Given the description of an element on the screen output the (x, y) to click on. 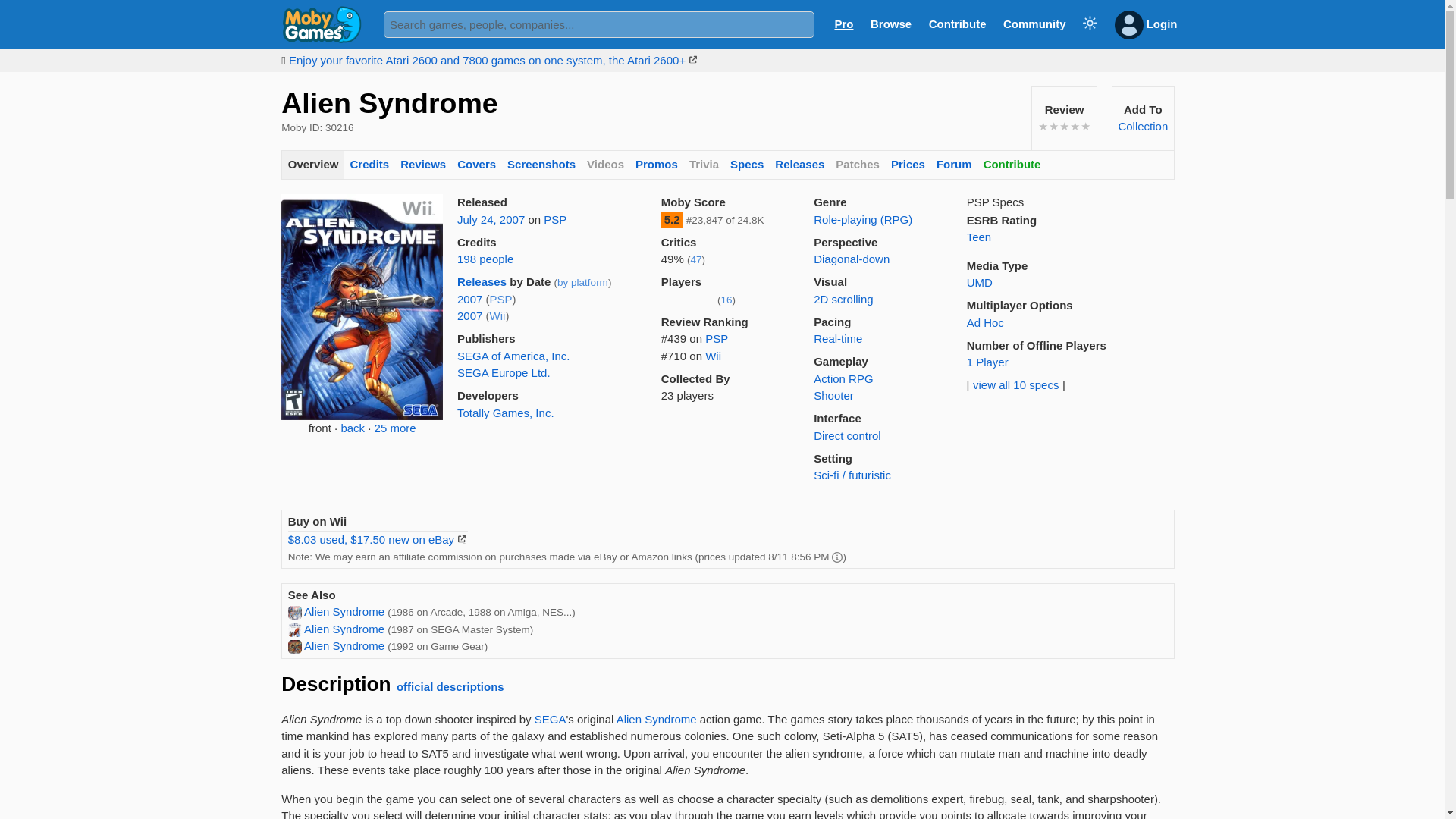
Collection (1142, 125)
Covers (476, 165)
Videos (605, 165)
Credits (368, 165)
Screenshots (541, 165)
Overview (312, 165)
Reviews (422, 165)
Pro (843, 23)
